Given the description of an element on the screen output the (x, y) to click on. 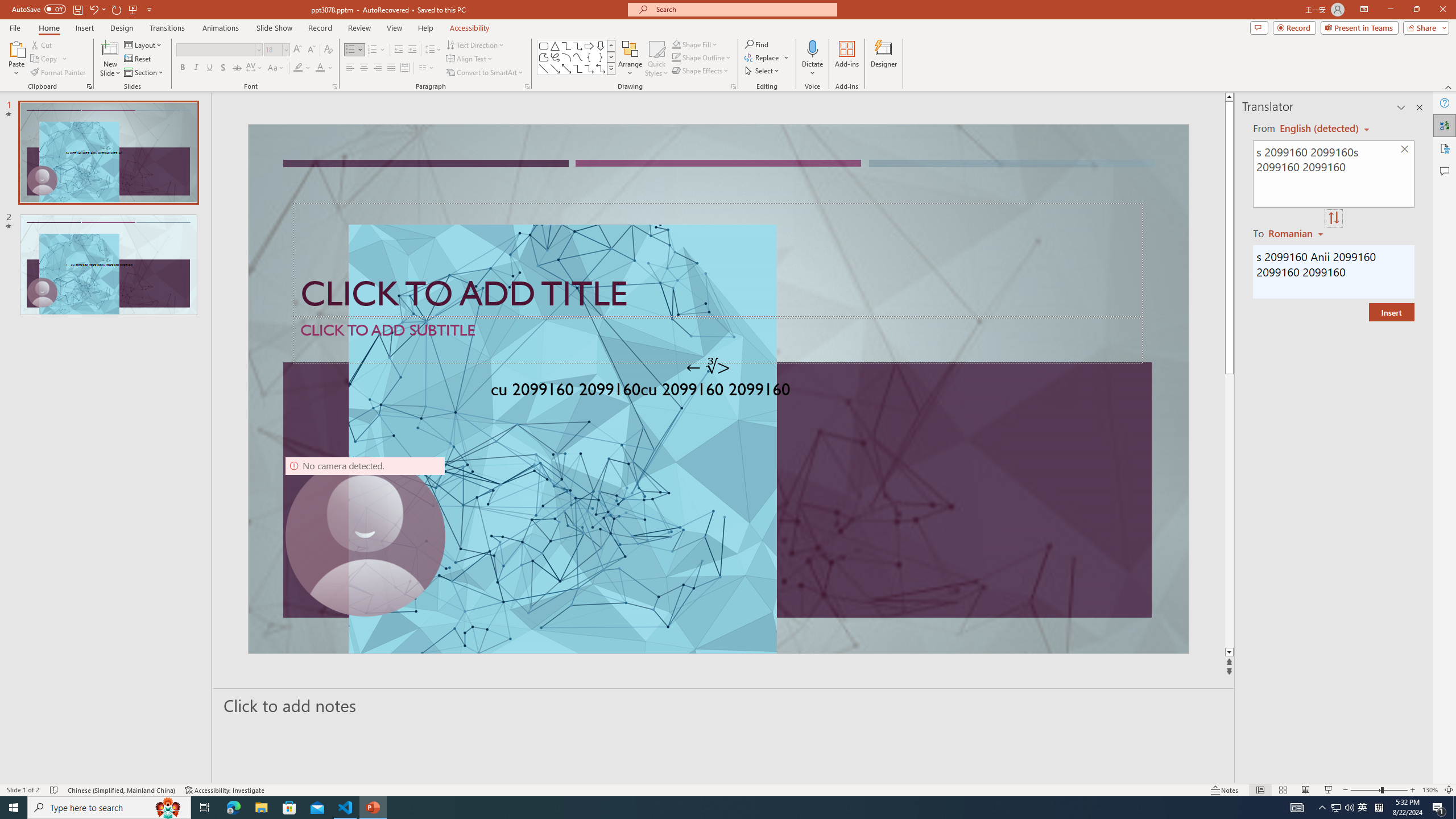
Czech (1296, 232)
